Given the description of an element on the screen output the (x, y) to click on. 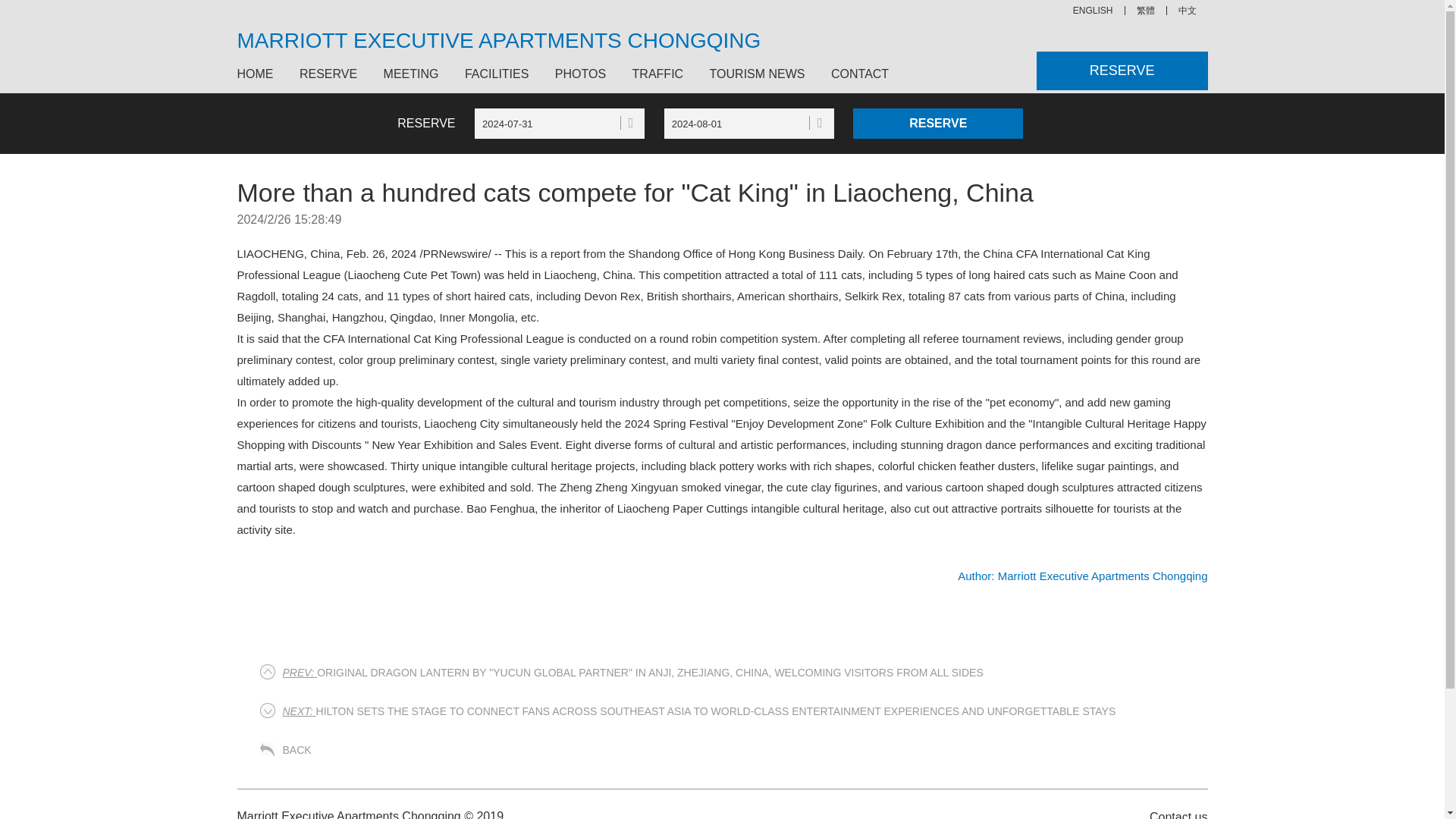
Original Dragon Lantern by  (632, 672)
2024-07-31 (559, 123)
Marriott Executive Apartments Chongqing (1082, 575)
Author: Marriott Executive Apartments Chongqing (1082, 575)
TRAFFIC (658, 74)
Contact us (1170, 811)
2024-08-01 (748, 123)
Marriott Executive Apartments Chongqing (1093, 10)
Reserve (938, 123)
Reserve (938, 123)
FACILITIES (496, 74)
MARRIOTT EXECUTIVE APARTMENTS CHONGQING (497, 40)
ENGLISH (1093, 10)
